Given the description of an element on the screen output the (x, y) to click on. 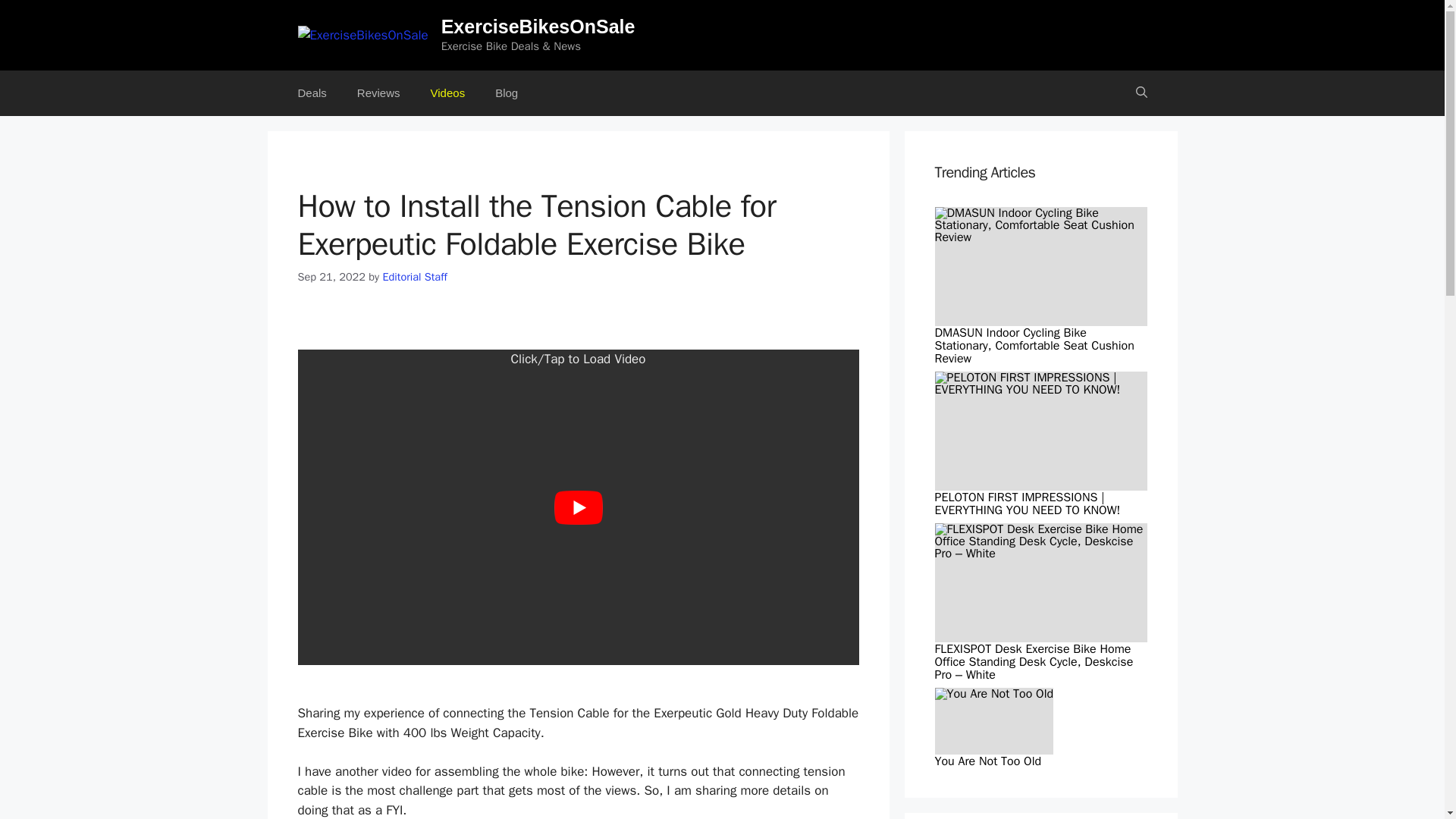
Editorial Staff (413, 276)
ExerciseBikesOnSale (537, 25)
Deals (311, 92)
Reviews (378, 92)
View all posts by Editorial Staff (413, 276)
Videos (447, 92)
You Are Not Too Old (993, 693)
Blog (506, 92)
